Given the description of an element on the screen output the (x, y) to click on. 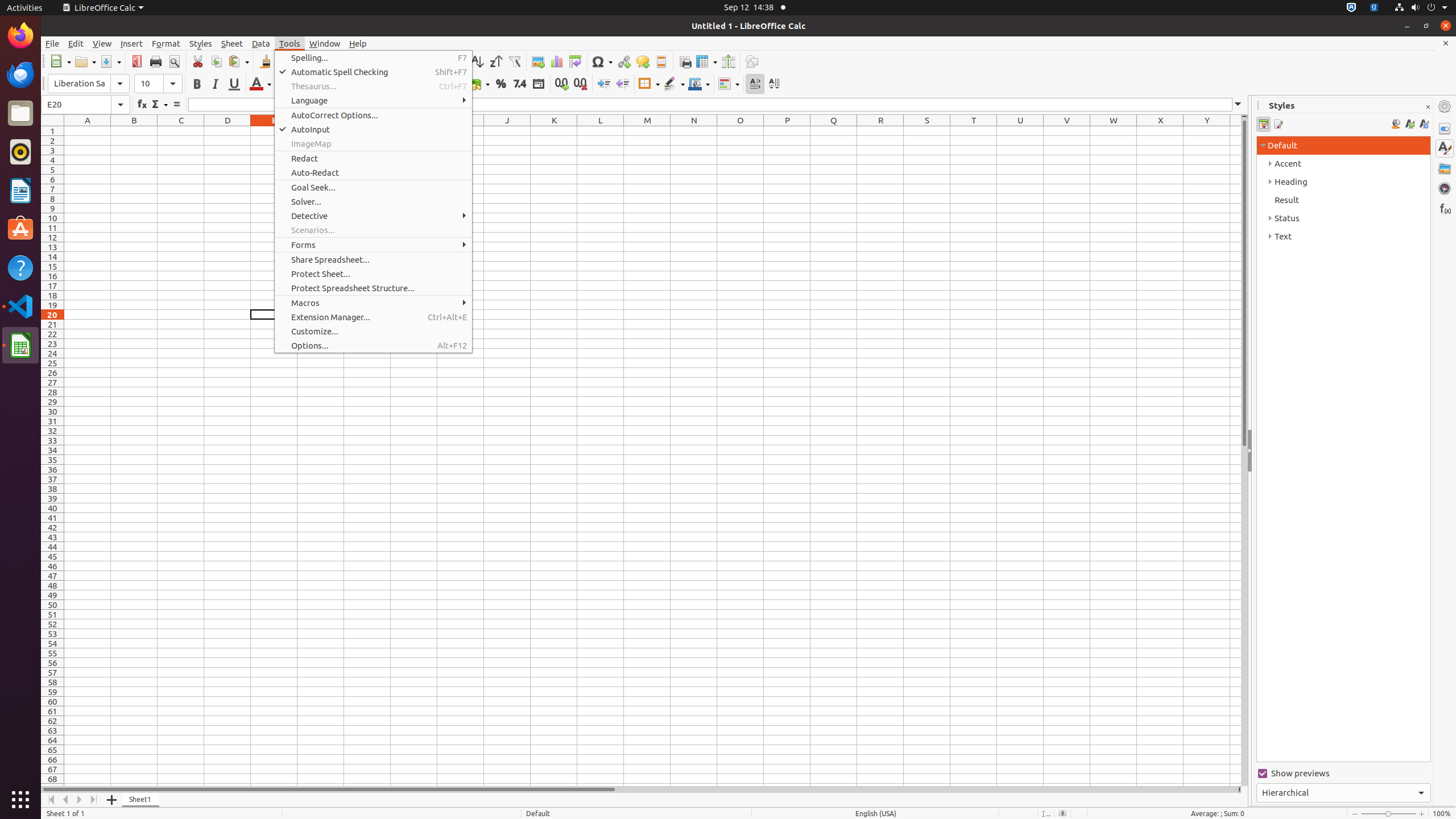
Cell Styles Element type: push-button (1263, 123)
Increase Element type: push-button (603, 83)
Delete Decimal Place Element type: push-button (580, 83)
E1 Element type: table-cell (273, 130)
S1 Element type: table-cell (926, 130)
